Given the description of an element on the screen output the (x, y) to click on. 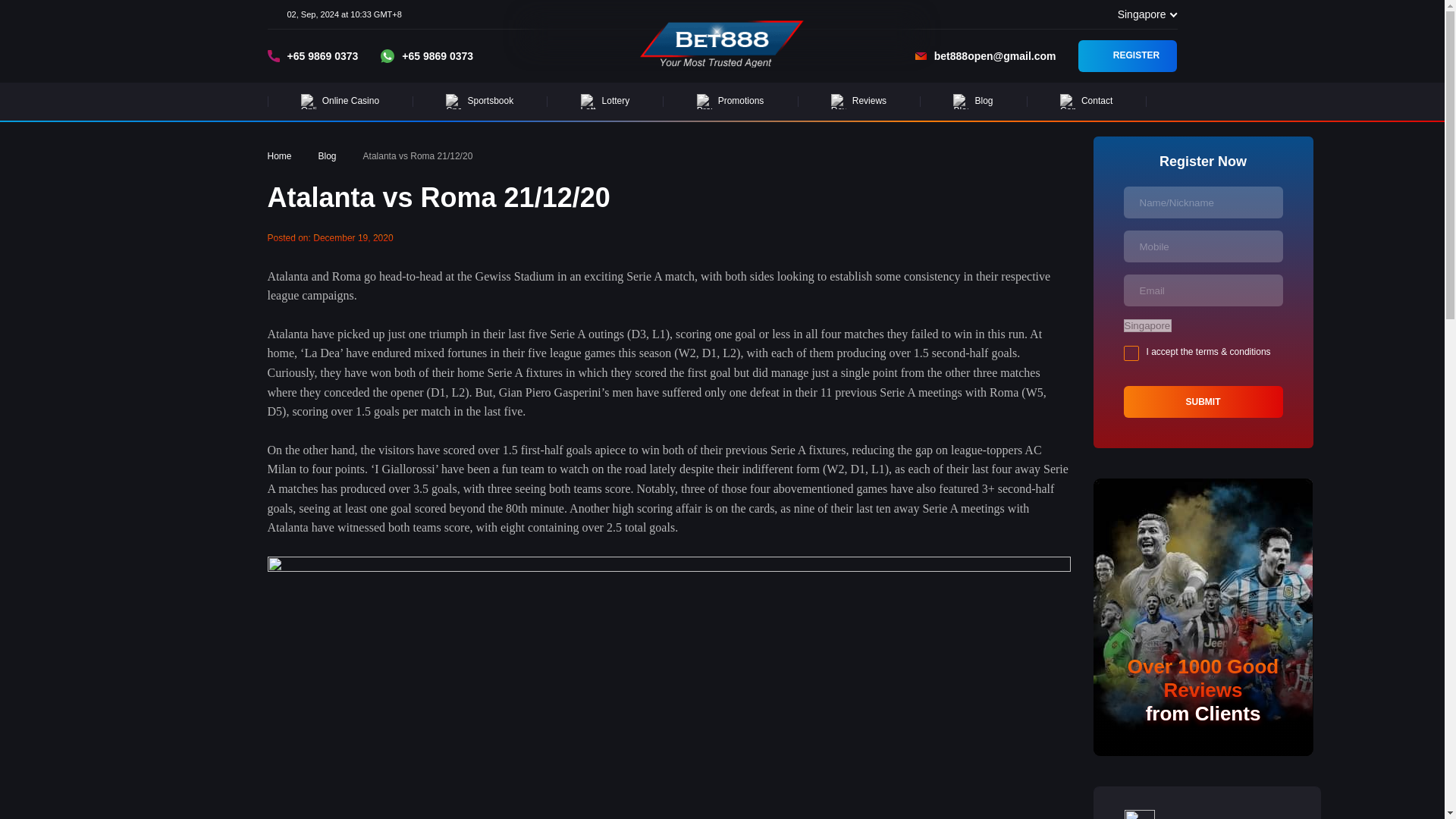
Lottery (604, 101)
Promotions (729, 101)
Blog (327, 156)
Home (278, 156)
Submit (1203, 401)
Reviews (859, 101)
Submit (1203, 401)
REGISTER (1127, 56)
Sportsbook (479, 101)
Contact (1086, 101)
